Given the description of an element on the screen output the (x, y) to click on. 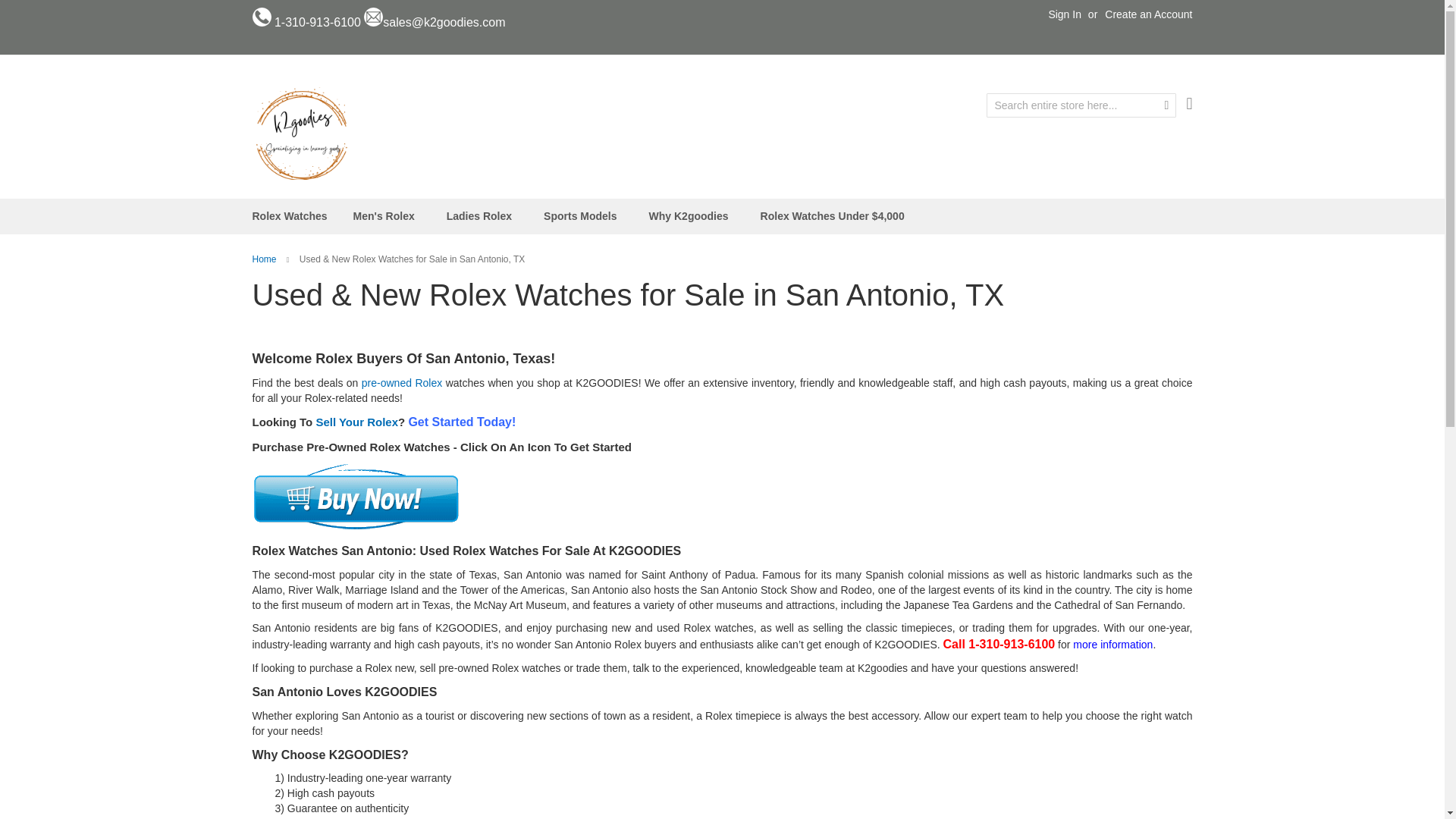
Men's Rolex (386, 216)
Swiss Watch (300, 132)
Go to Home Page (264, 258)
Rolex Watches (289, 216)
1-310-913-6100 (318, 21)
Sports Models (582, 216)
Why K2goodies (692, 216)
Ladies Rolex (482, 216)
Sign In (1064, 14)
Create an Account (1148, 14)
